Given the description of an element on the screen output the (x, y) to click on. 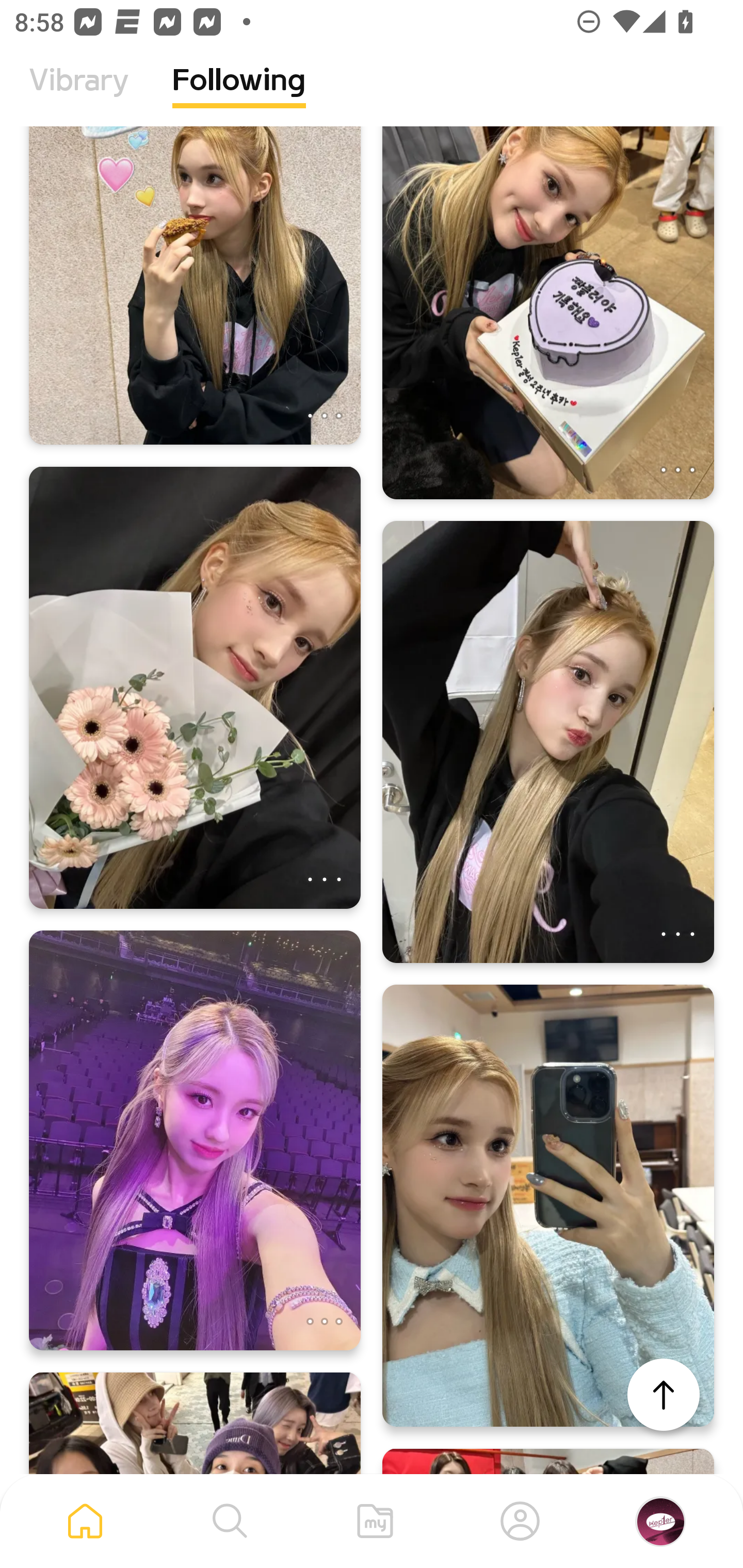
Vibrary (78, 95)
Following (239, 95)
